Given the description of an element on the screen output the (x, y) to click on. 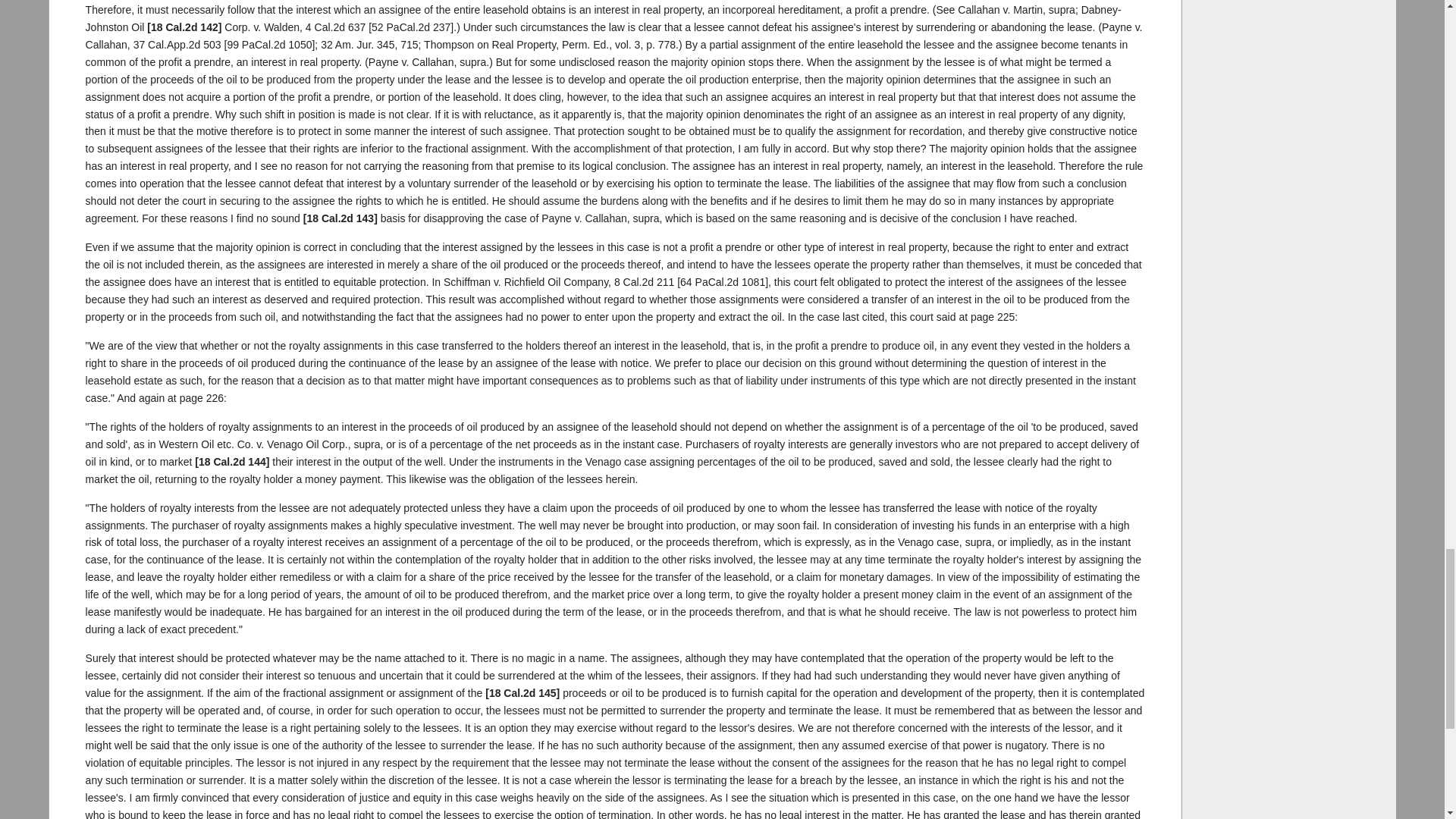
8 Cal.2d 211 (644, 282)
Dabney-Johnston Oil Corp. v. Walden (335, 27)
Schiffman v. Richfield Oil Co. (644, 282)
4 Cal.2d 637 (335, 27)
